Given the description of an element on the screen output the (x, y) to click on. 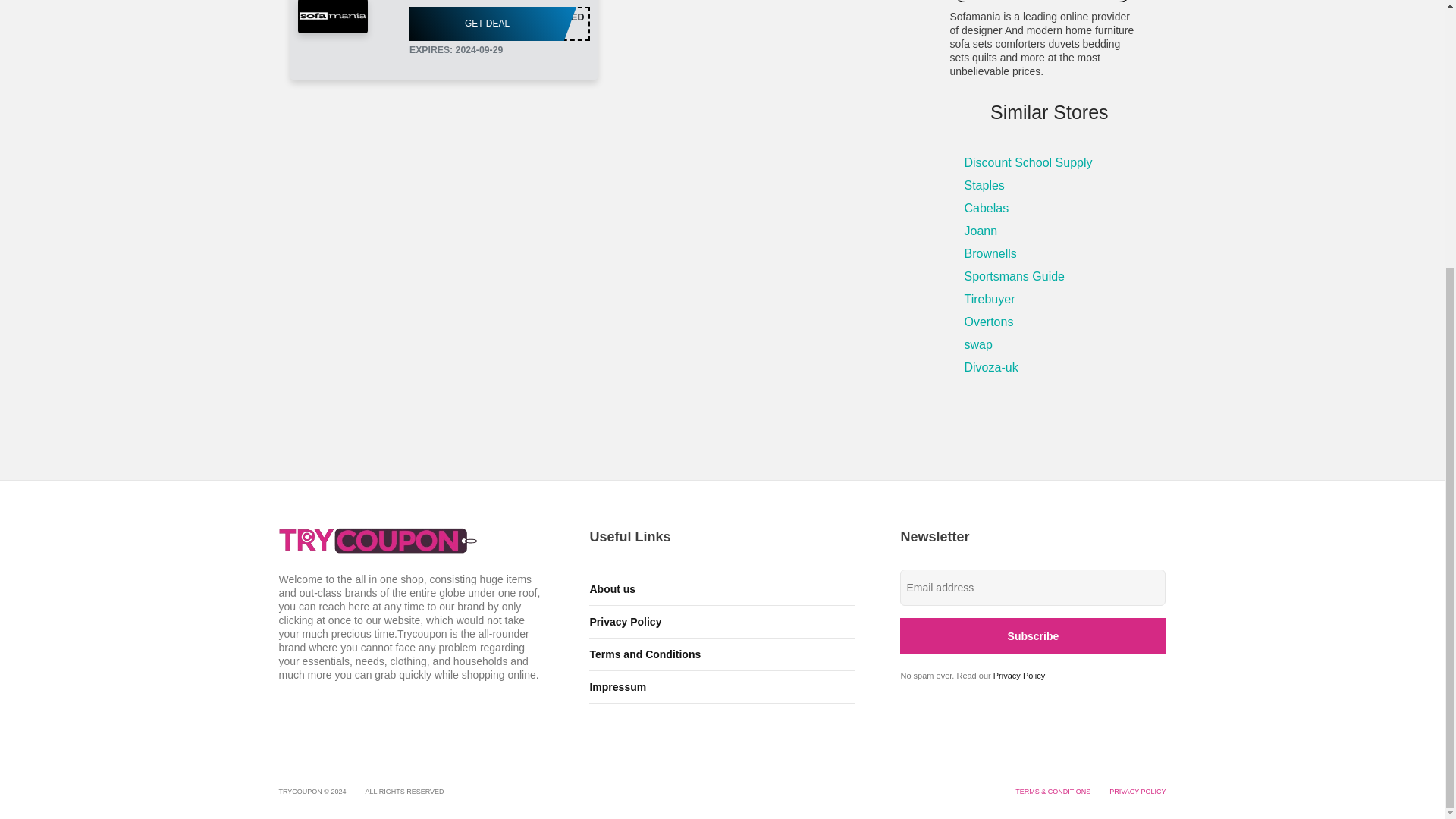
Similar Stores (1049, 112)
Divoza-uk (990, 367)
Cabelas (499, 23)
Joann (986, 207)
Brownells (980, 230)
Overtons (989, 253)
swap (988, 321)
Tirebuyer (977, 344)
GET DEAL (988, 298)
